Given the description of an element on the screen output the (x, y) to click on. 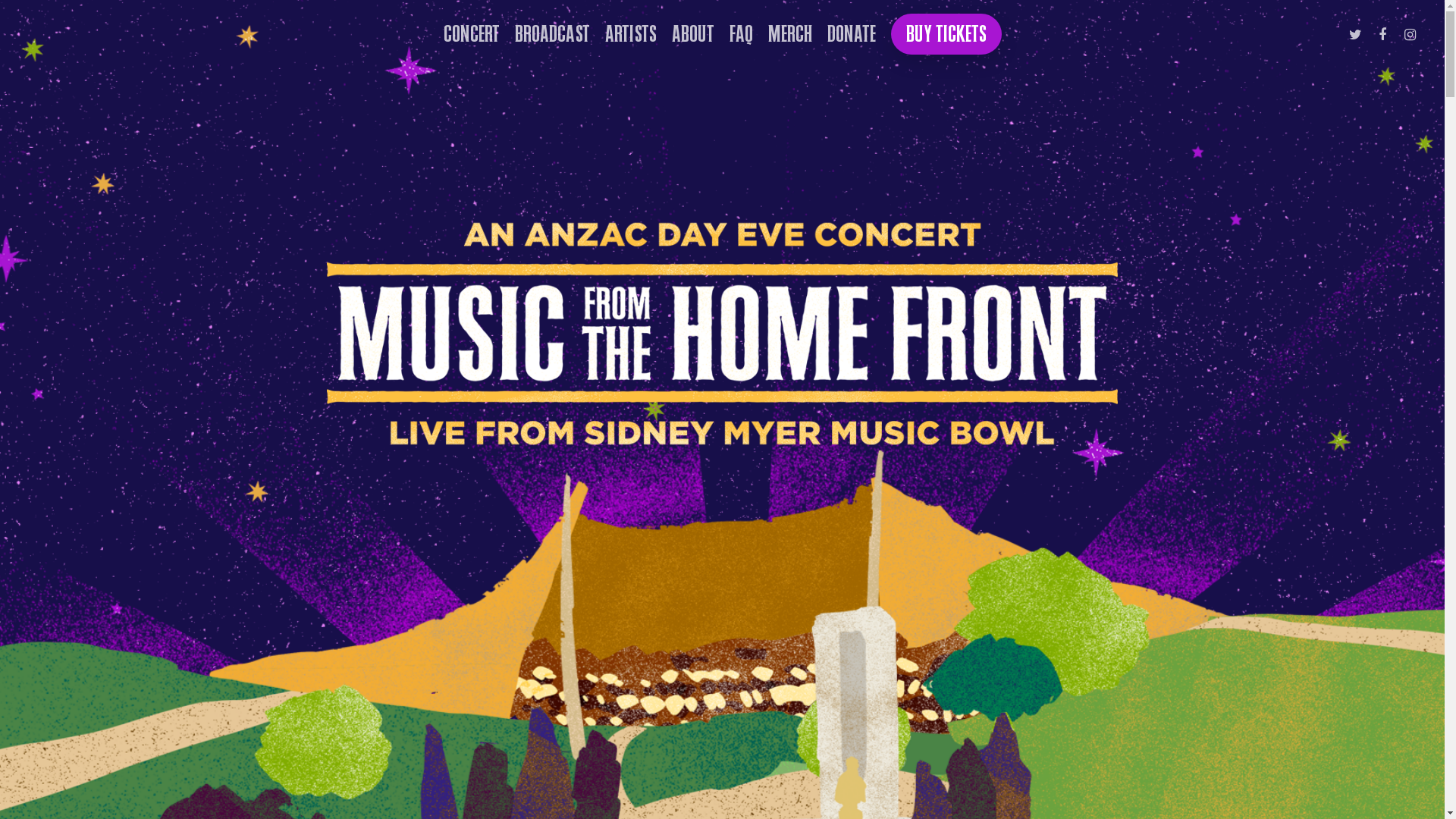
CONCERT Element type: text (470, 33)
ARTISTS Element type: text (630, 33)
BUY TICKETS Element type: text (945, 33)
FAQ Element type: text (740, 33)
BROADCAST Element type: text (551, 33)
DONATE Element type: text (850, 33)
ABOUT Element type: text (692, 33)
MERCH Element type: text (789, 33)
